Given the description of an element on the screen output the (x, y) to click on. 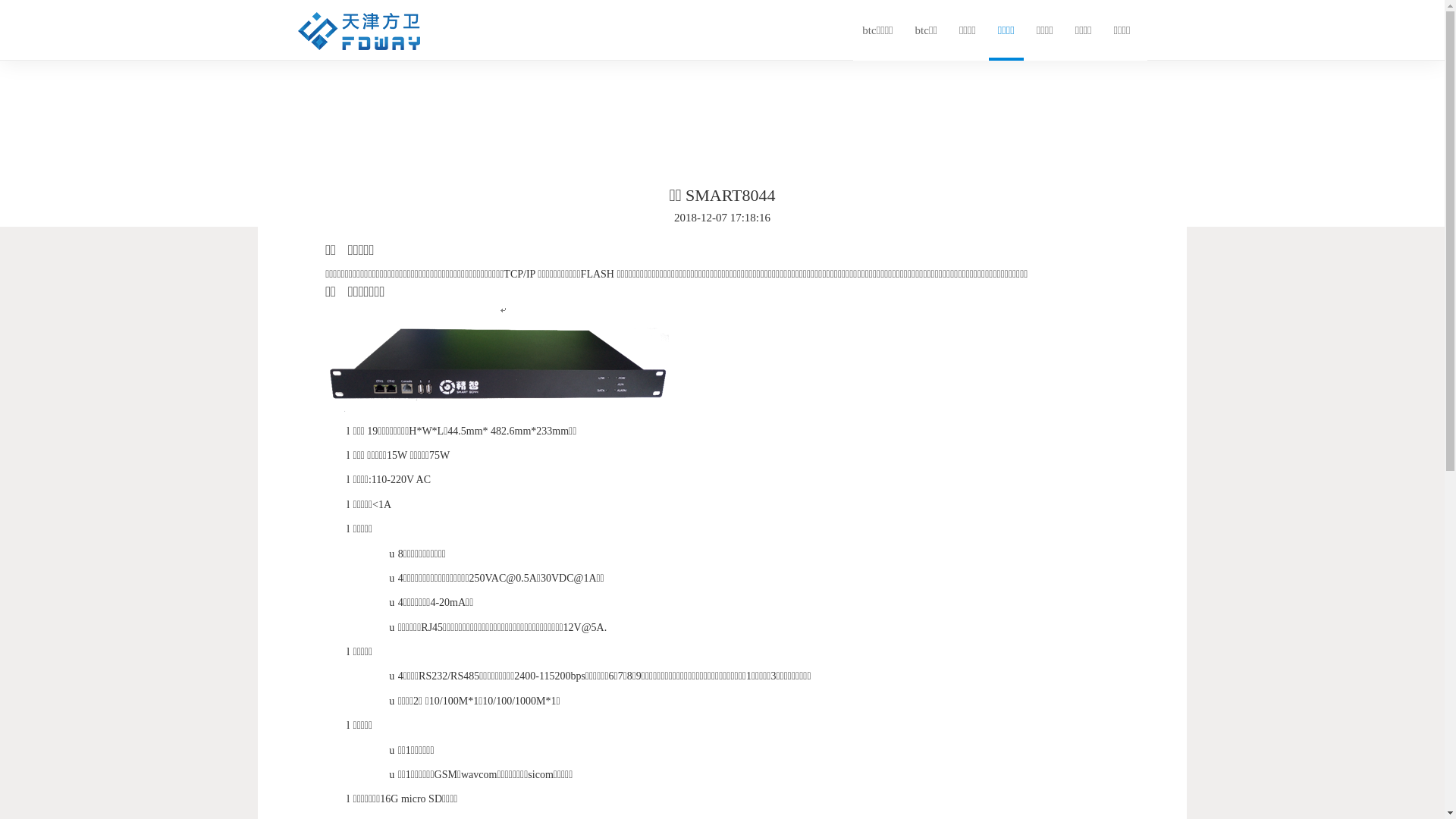
1544174317414059112.png Element type: hover (499, 361)
